Given the description of an element on the screen output the (x, y) to click on. 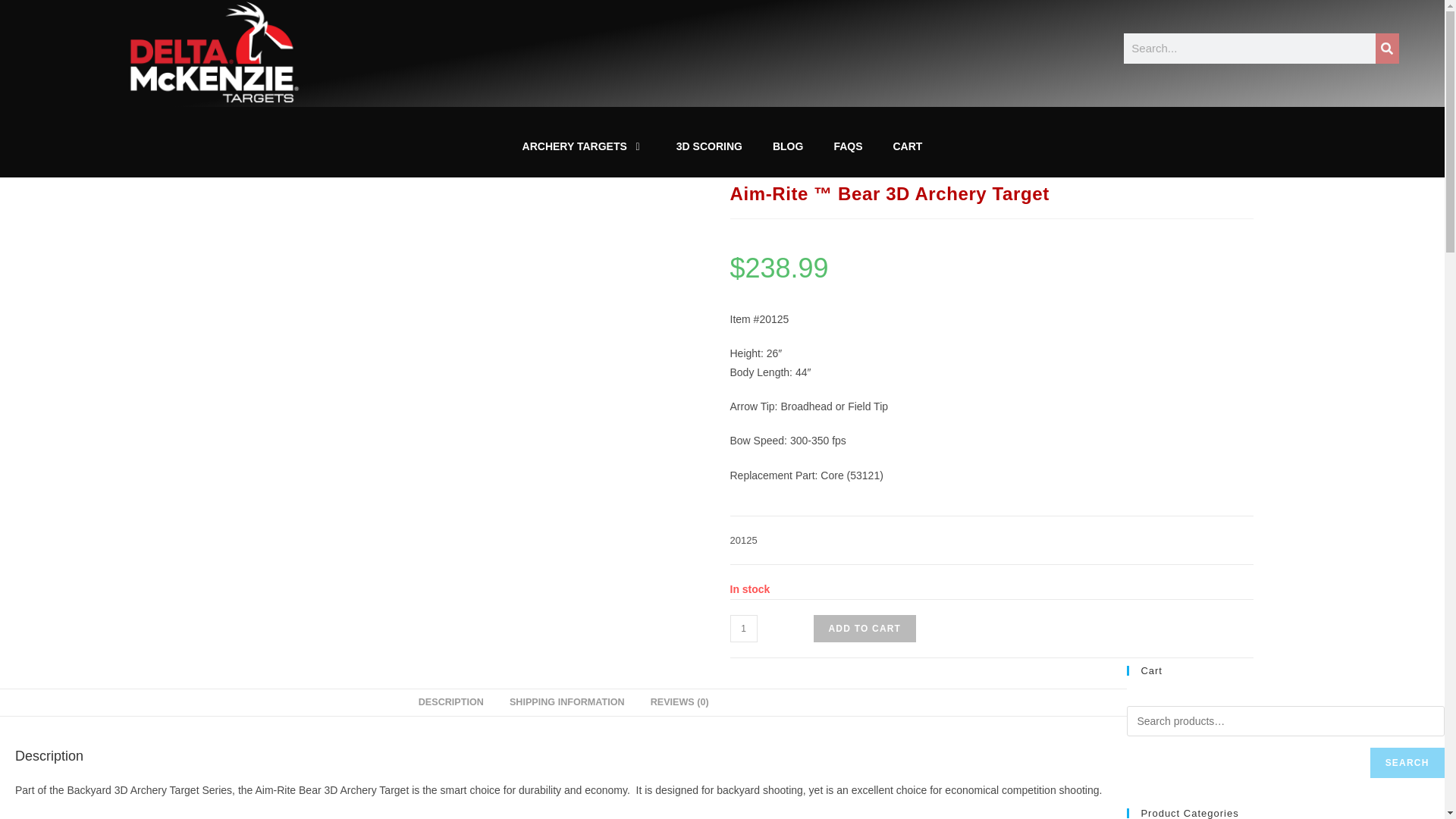
1 (743, 628)
